Given the description of an element on the screen output the (x, y) to click on. 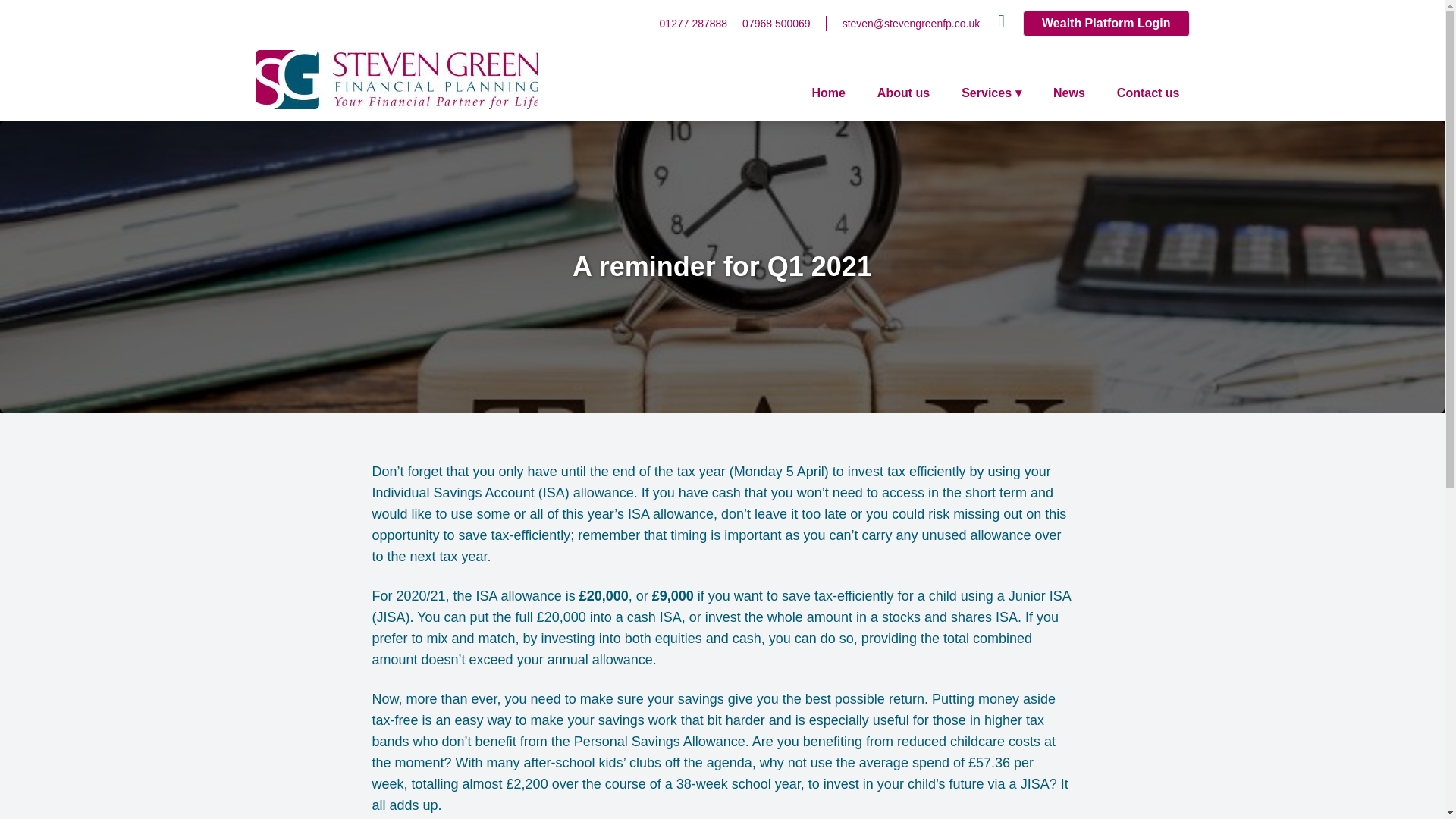
News (1068, 92)
01277 287888 (693, 23)
Wealth Platform Login (1106, 23)
Home (827, 92)
07968 500069 (776, 23)
Services (991, 92)
About us (903, 92)
Contact us (1148, 92)
